Given the description of an element on the screen output the (x, y) to click on. 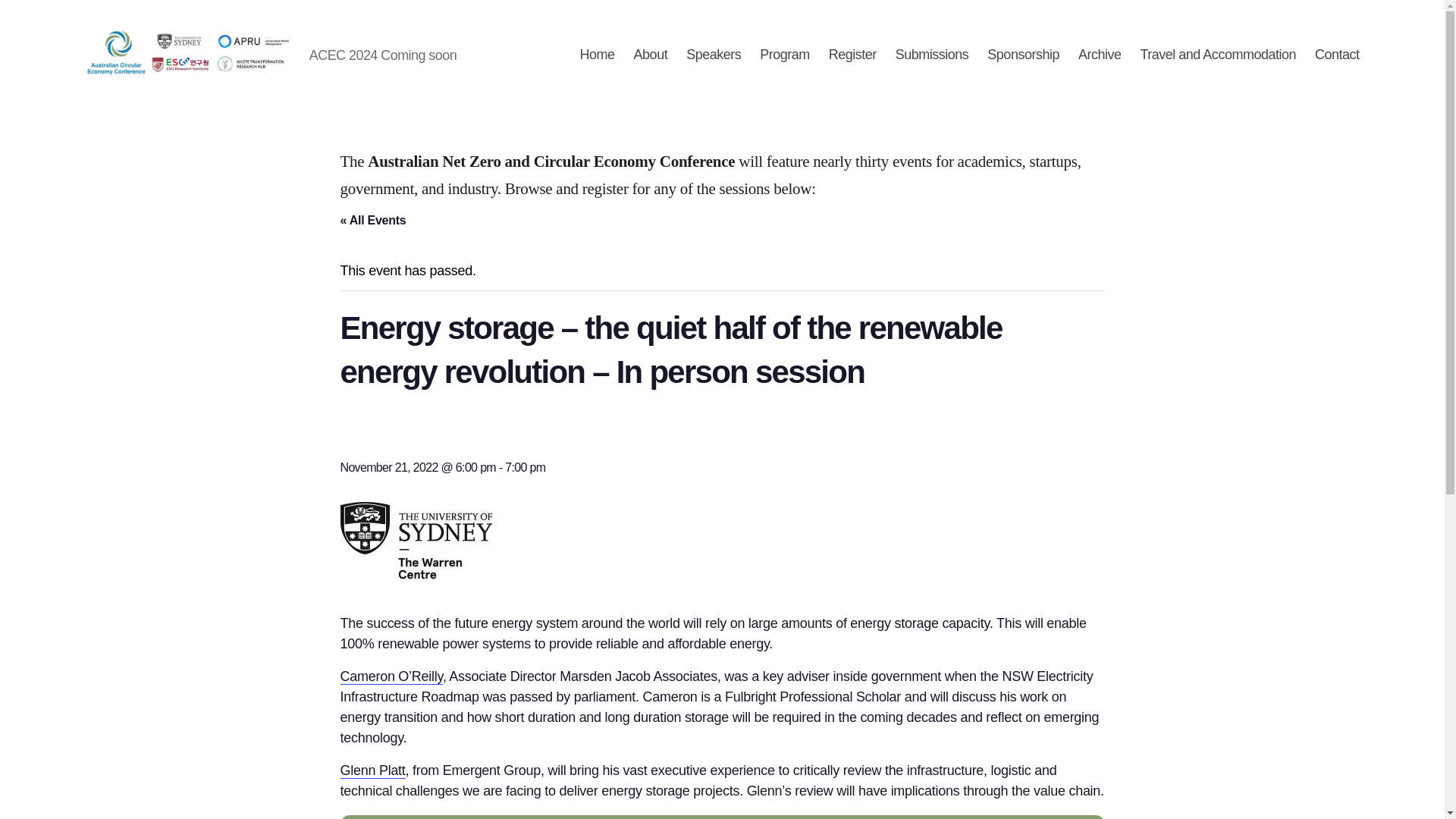
Register (852, 54)
About (650, 54)
Speakers (713, 54)
Archive (1099, 54)
Program (784, 54)
Sponsorship (1023, 54)
Glenn Platt (371, 770)
Contact (1336, 54)
Travel and Accommodation (1217, 54)
Home (596, 54)
Submissions (932, 54)
